Given the description of an element on the screen output the (x, y) to click on. 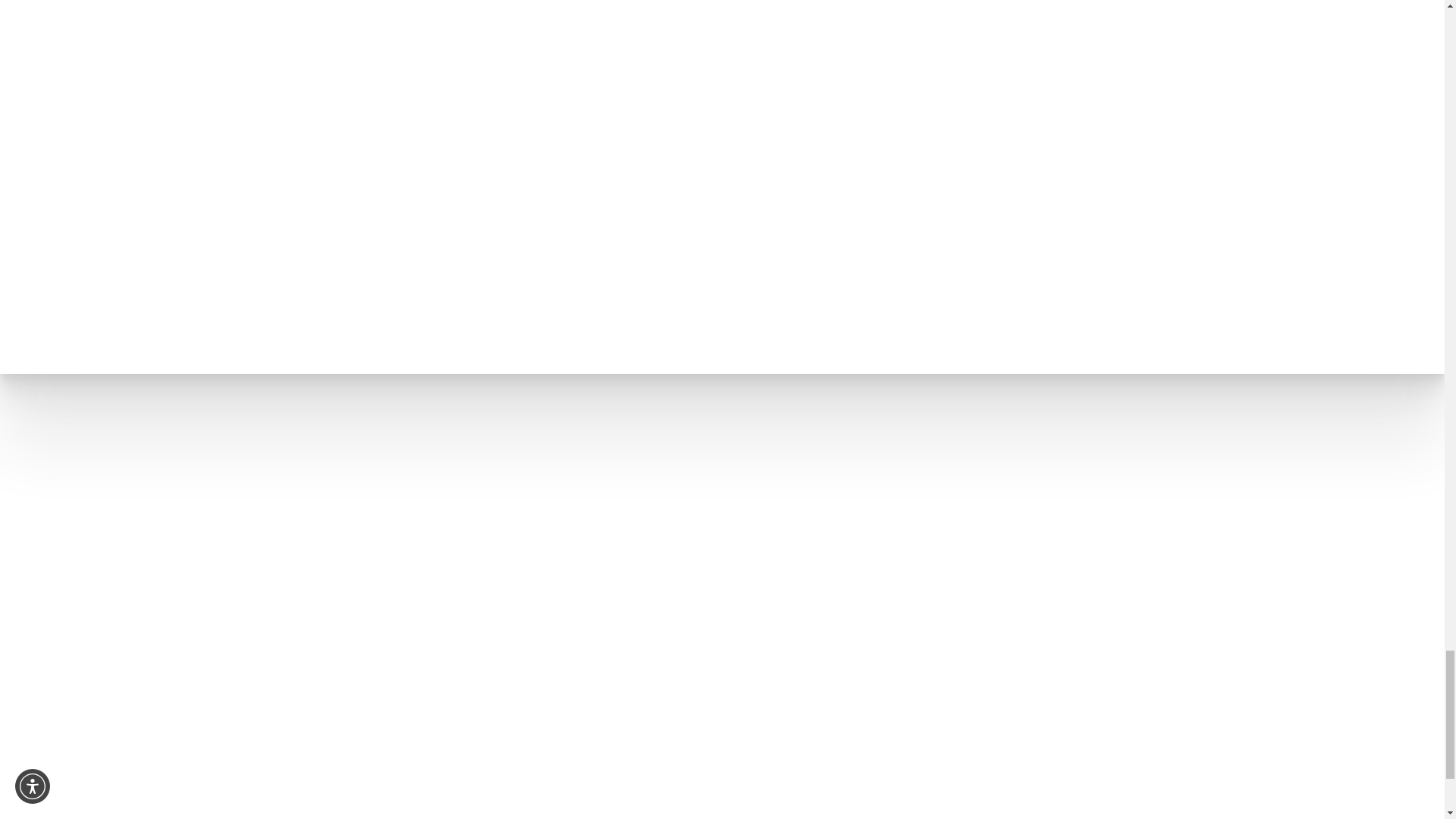
Follow Dr. Elist, M.D. FACS on Facebook (1188, 540)
Follow Dr. Elist, M.D. FACS on Facebook (1303, 540)
Follow Dr. Elist, M.D. FACS on Instagram (1072, 540)
Follow Dr. Elist, M.D. FACS on Facebook (1319, 564)
